Given the description of an element on the screen output the (x, y) to click on. 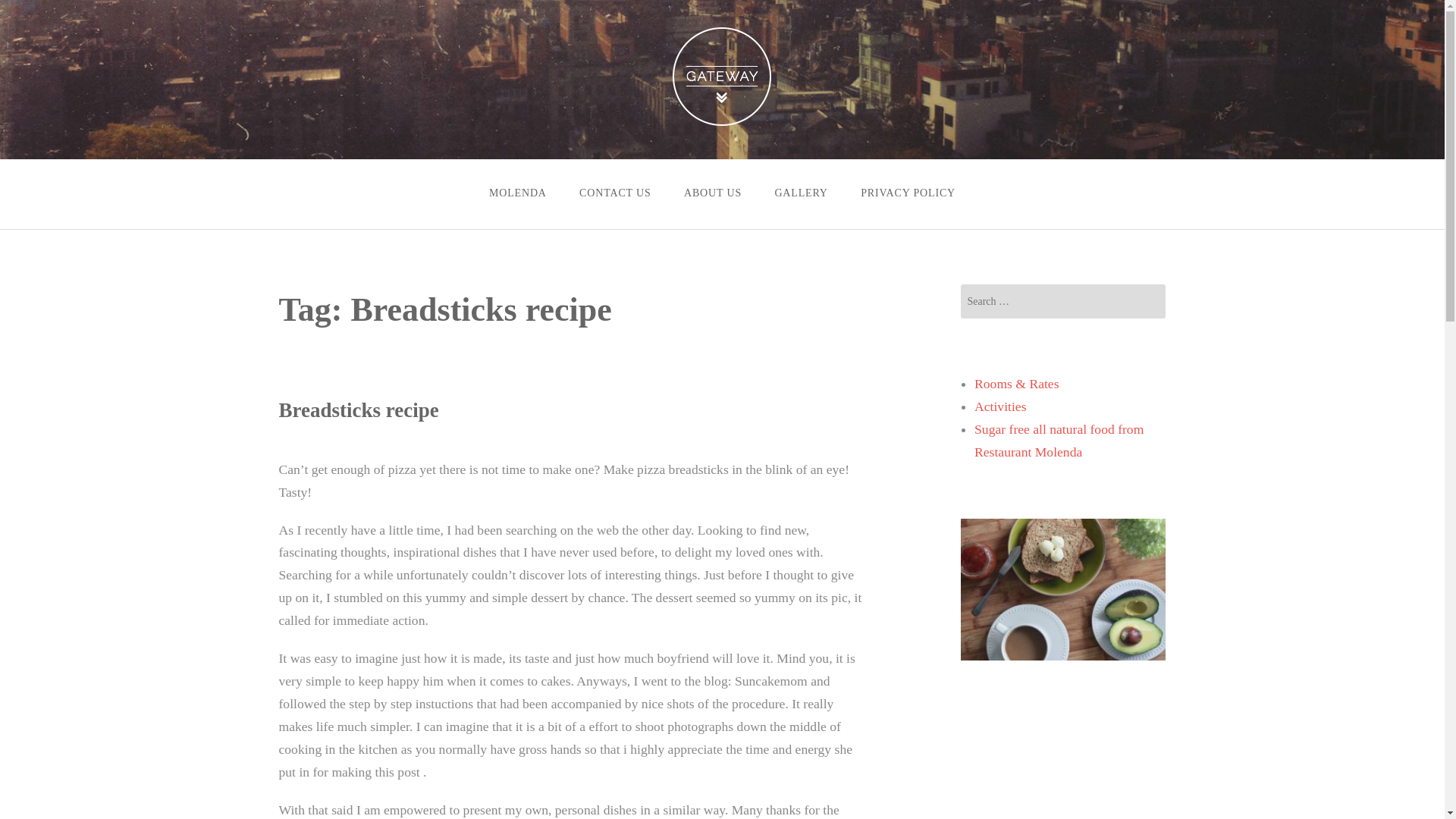
MOLENDA (516, 192)
Search (34, 11)
ABOUT US (711, 192)
GALLERY (801, 192)
CONTACT US (614, 192)
Sugar free all natural food from Restaurant Molenda (1058, 440)
PRIVACY POLICY (907, 192)
Breadsticks recipe (359, 409)
Activities (1000, 406)
